Given the description of an element on the screen output the (x, y) to click on. 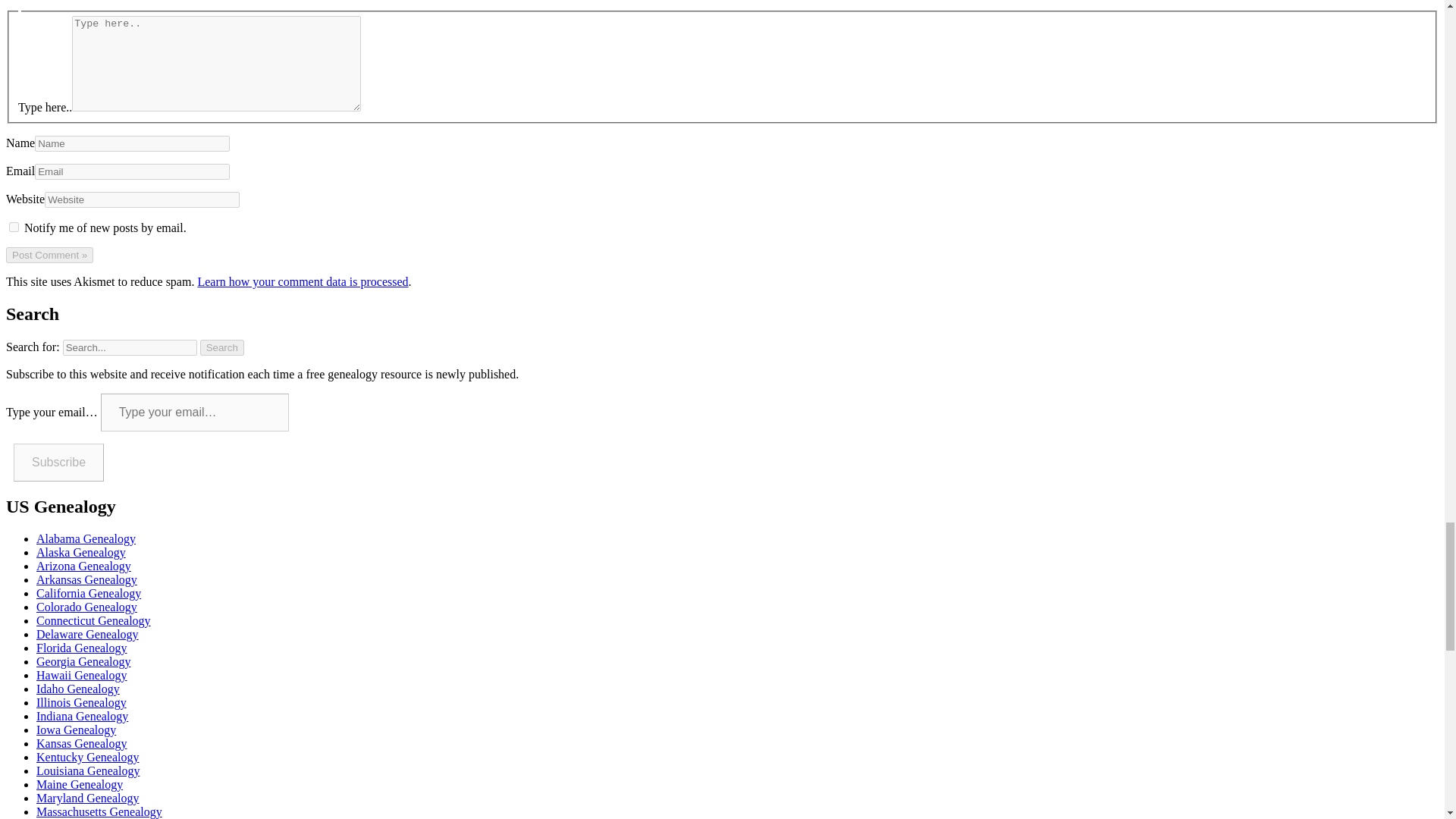
Learn how your comment data is processed (301, 281)
California Genealogy (88, 593)
Arkansas Genealogy (86, 579)
Please fill in this field. (194, 412)
Subscribe (58, 462)
Search (222, 347)
Alabama Genealogy (85, 538)
Arizona Genealogy (83, 565)
Alaska Genealogy (80, 552)
Alaska Genealogy (80, 552)
Search (222, 347)
subscribe (13, 226)
Arizona Genealogy (83, 565)
Connecticut Genealogy (93, 620)
Delaware Genealogy (87, 634)
